Given the description of an element on the screen output the (x, y) to click on. 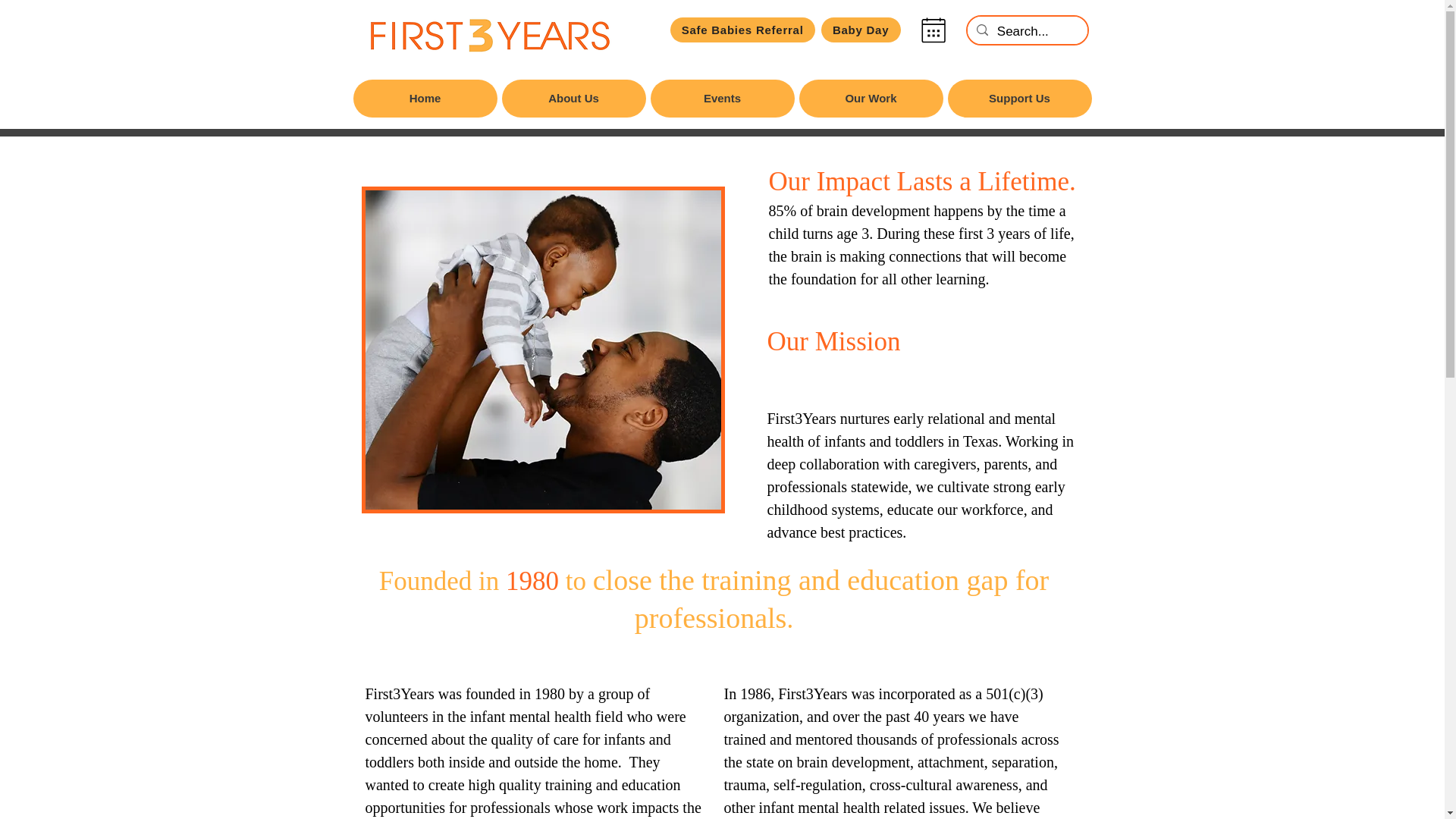
Support Us (1019, 98)
Our Work (871, 98)
Safe Babies Referral (742, 29)
Baby Day (861, 29)
About Us (574, 98)
Events (722, 98)
Home (425, 98)
